Given the description of an element on the screen output the (x, y) to click on. 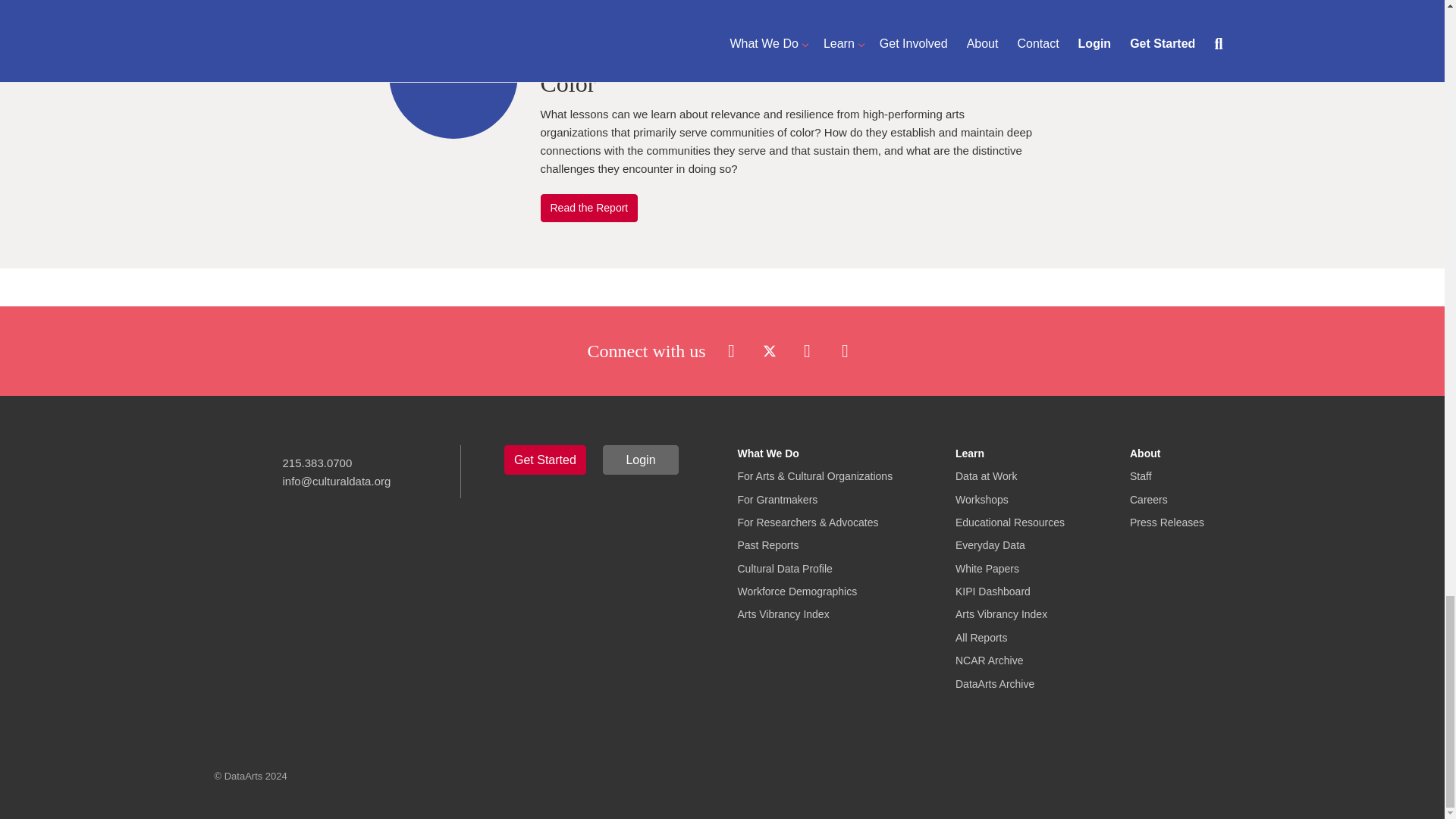
Twitter (768, 348)
Read the Report (588, 207)
Facebook (730, 348)
